Given the description of an element on the screen output the (x, y) to click on. 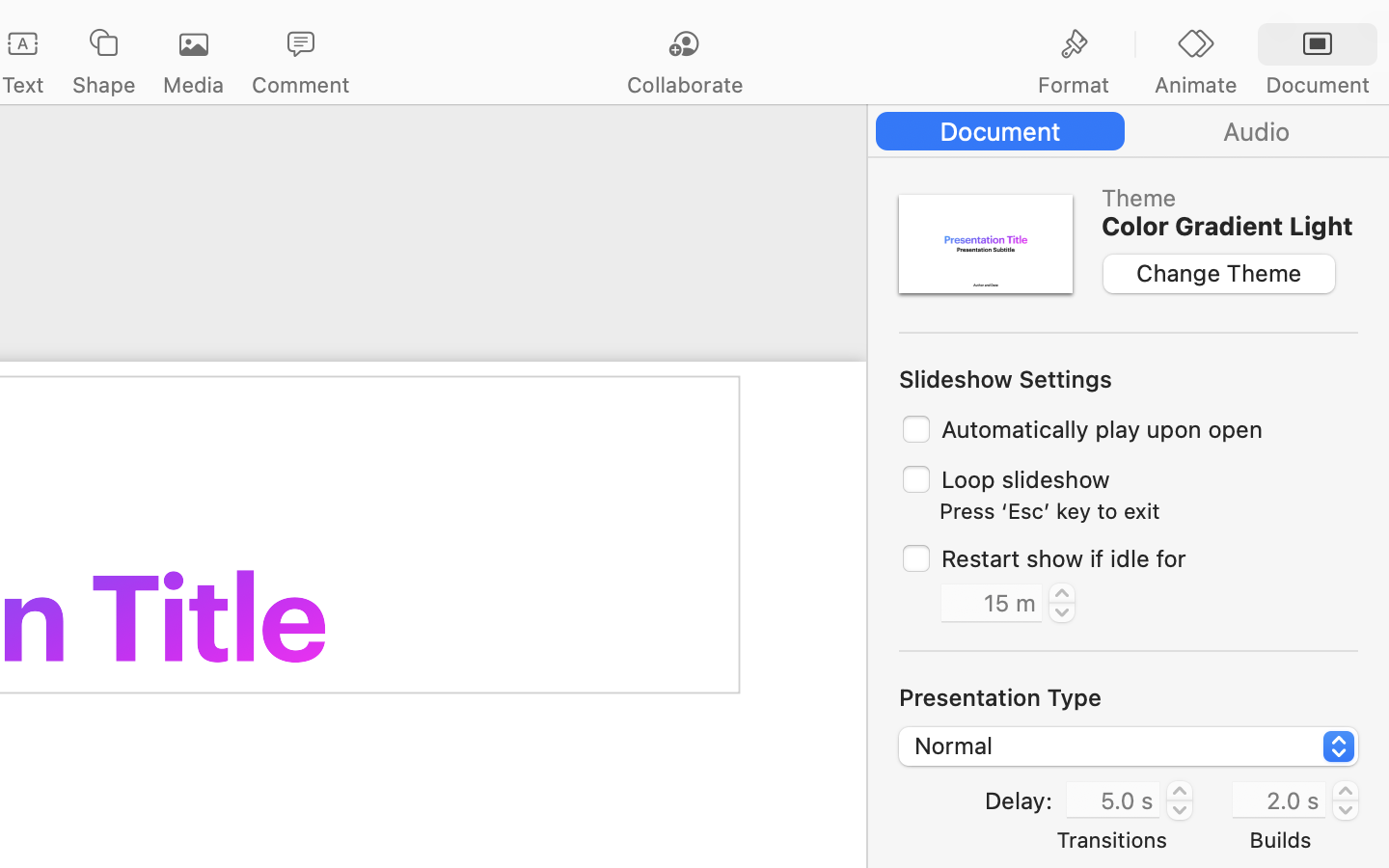
Presentation Type Element type: AXStaticText (1000, 696)
Slideshow Settings Element type: AXStaticText (1005, 378)
Transitions Element type: AXStaticText (1111, 838)
Untitled Element type: AXStaticText (81, 24)
Media Element type: AXStaticText (192, 84)
